Given the description of an element on the screen output the (x, y) to click on. 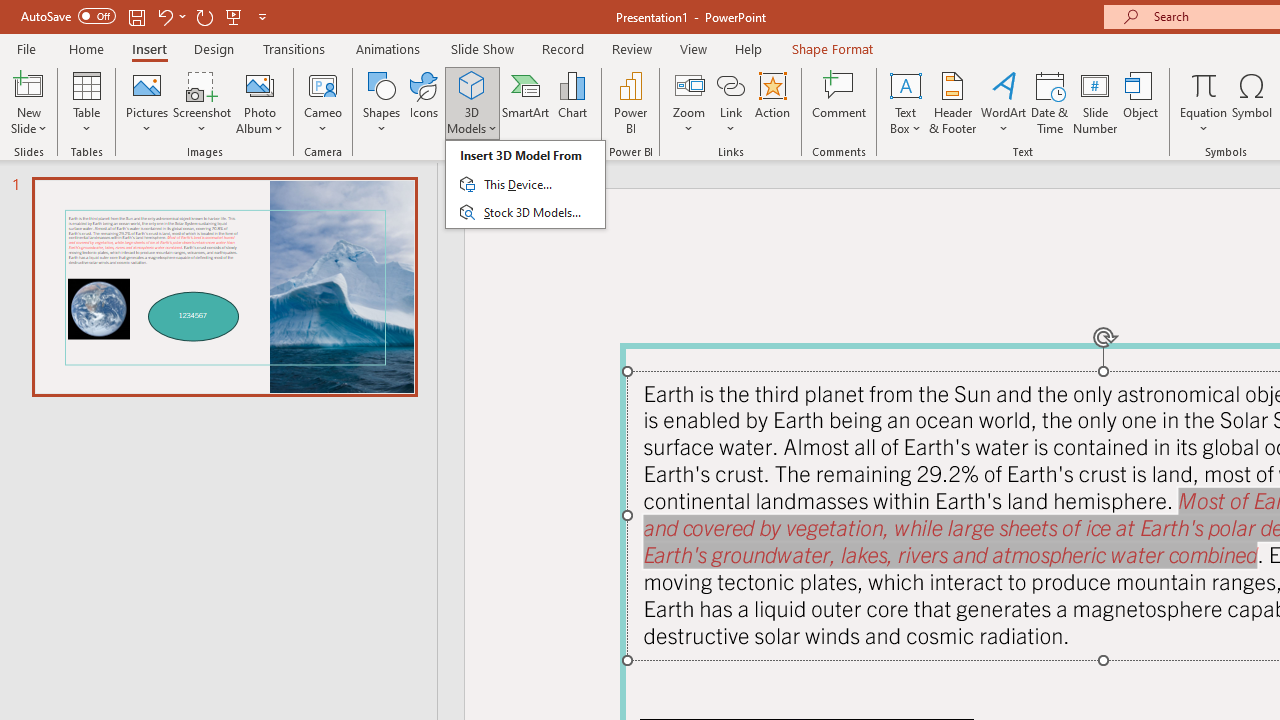
Date & Time... (1050, 102)
Slide Number (1095, 102)
